Given the description of an element on the screen output the (x, y) to click on. 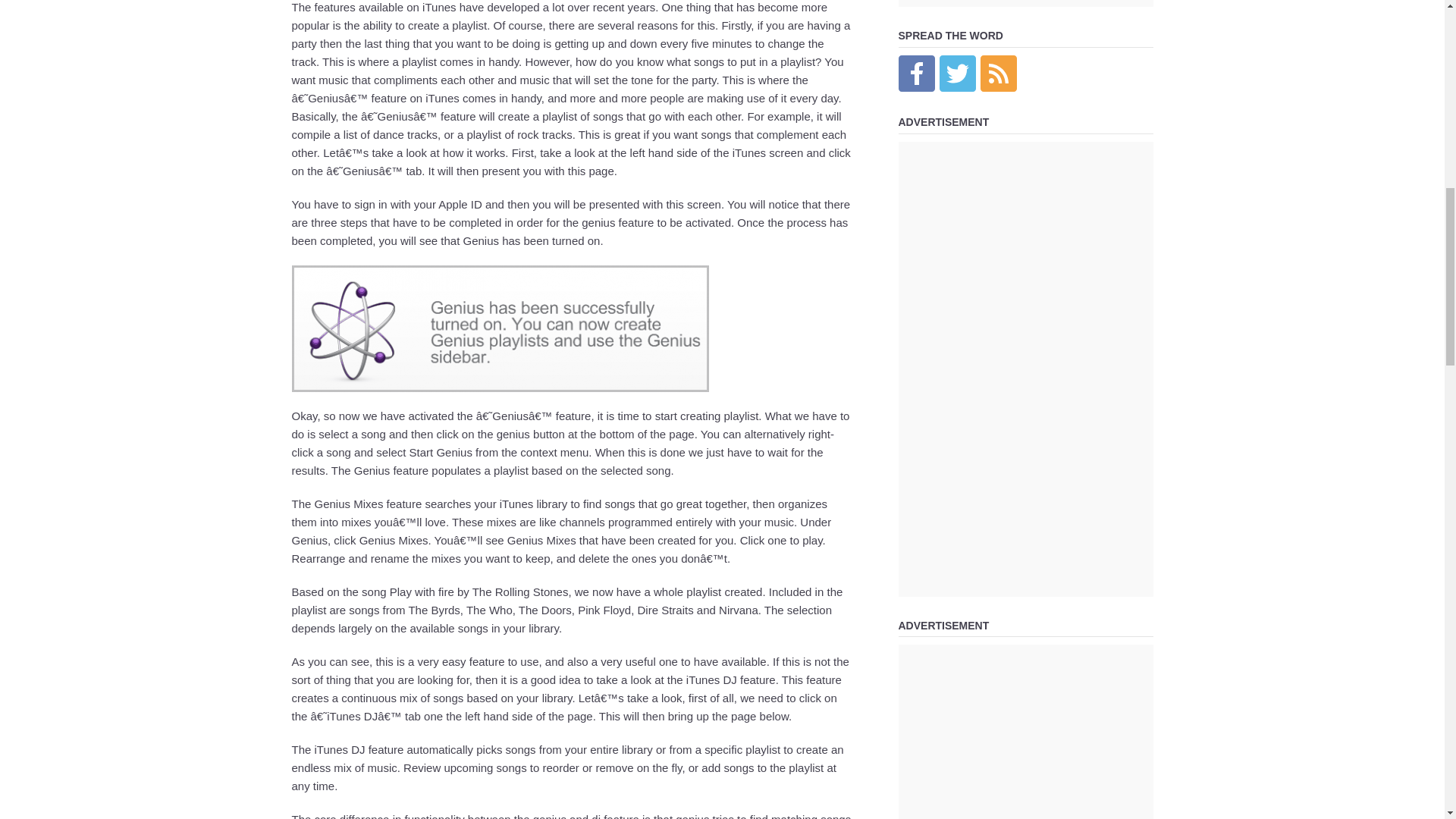
genius (499, 328)
